Given the description of an element on the screen output the (x, y) to click on. 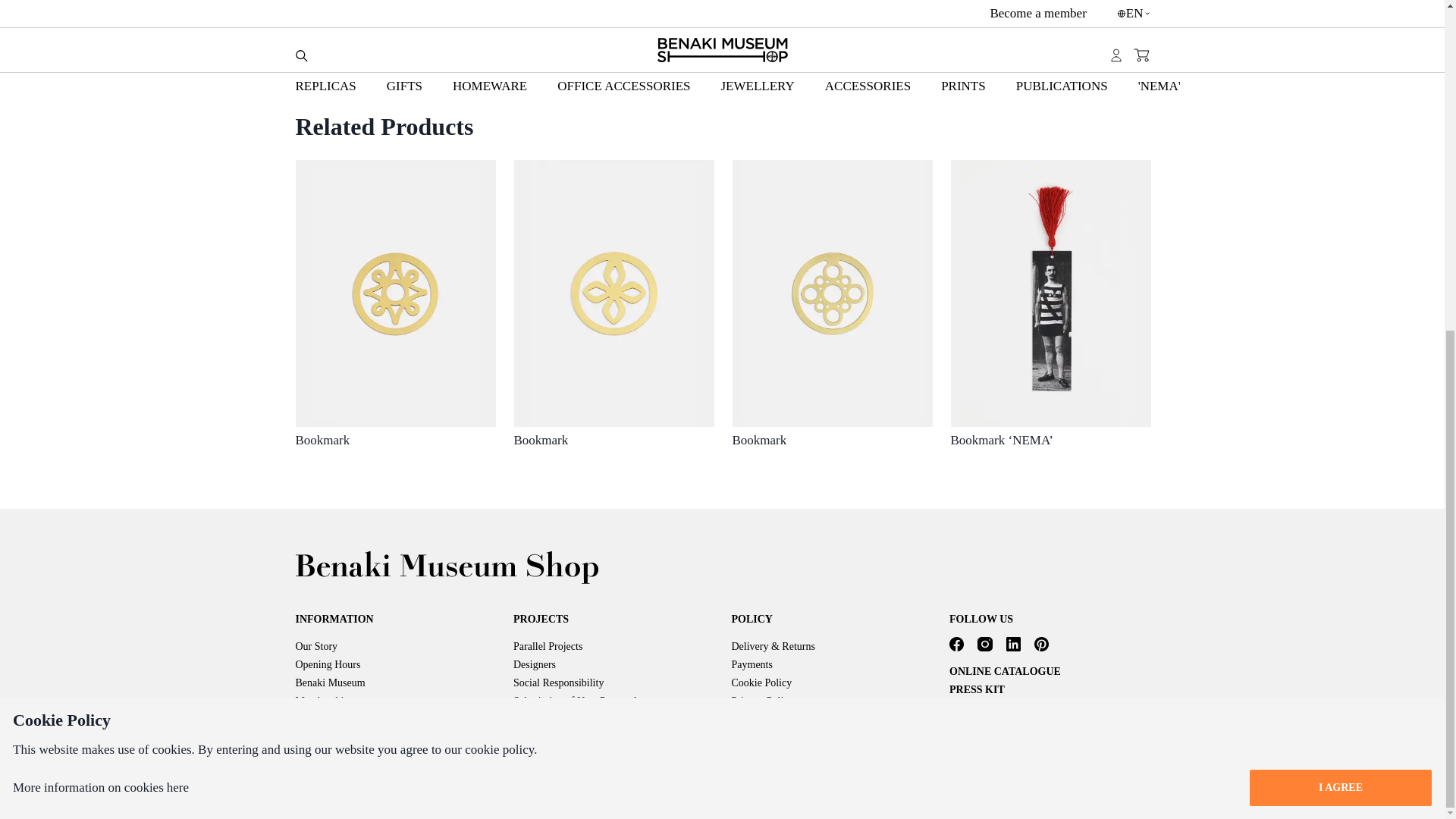
Designers (534, 663)
Contact Us (319, 717)
Opening Hours (328, 663)
Benaki Museum (330, 681)
Social Responsibility (558, 681)
Our Story (316, 645)
Submission of New Proposals (576, 699)
Memberships (324, 699)
Payments (750, 663)
Parallel Projects (547, 645)
